Given the description of an element on the screen output the (x, y) to click on. 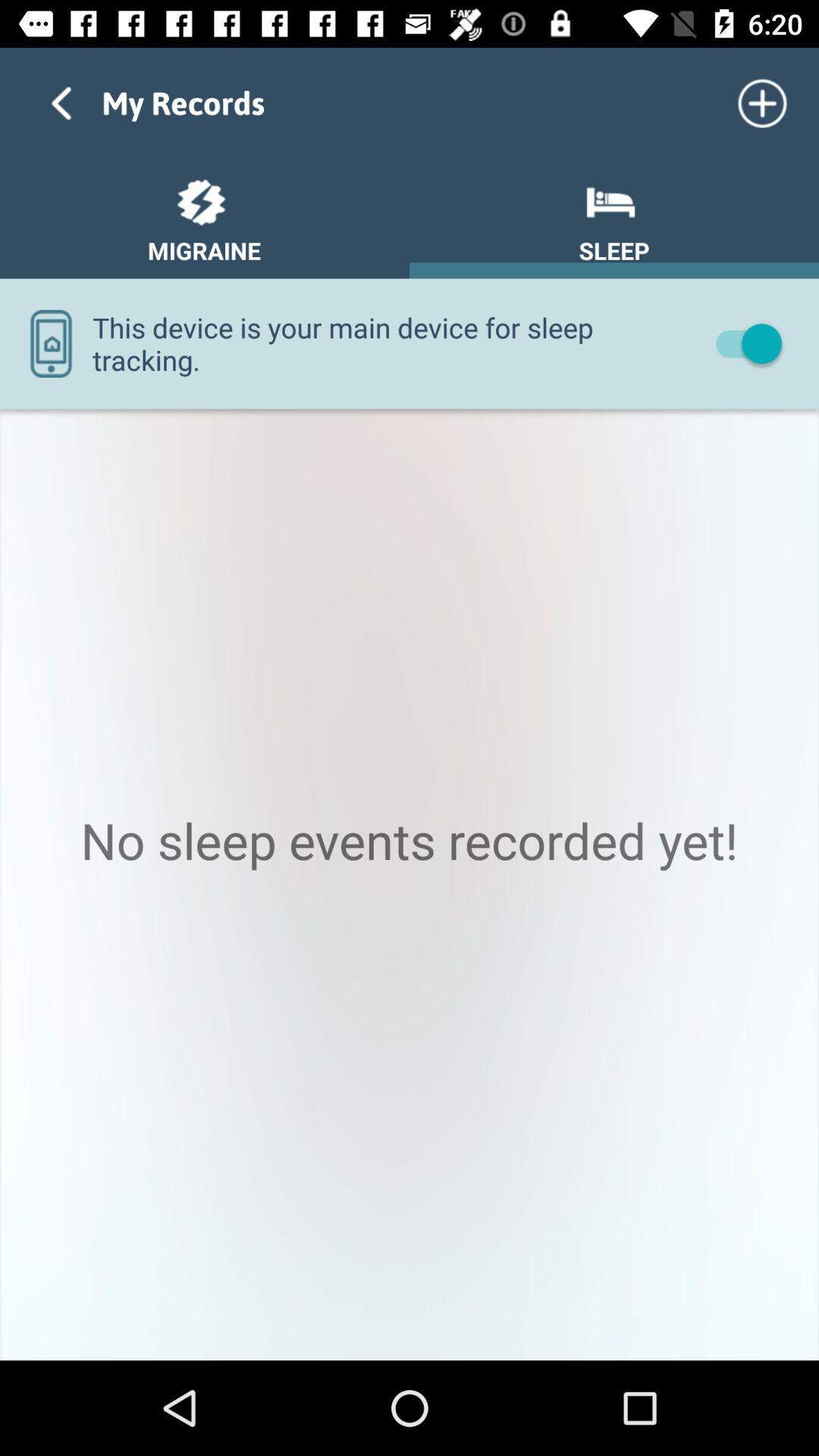
tap no sleep events (409, 884)
